Given the description of an element on the screen output the (x, y) to click on. 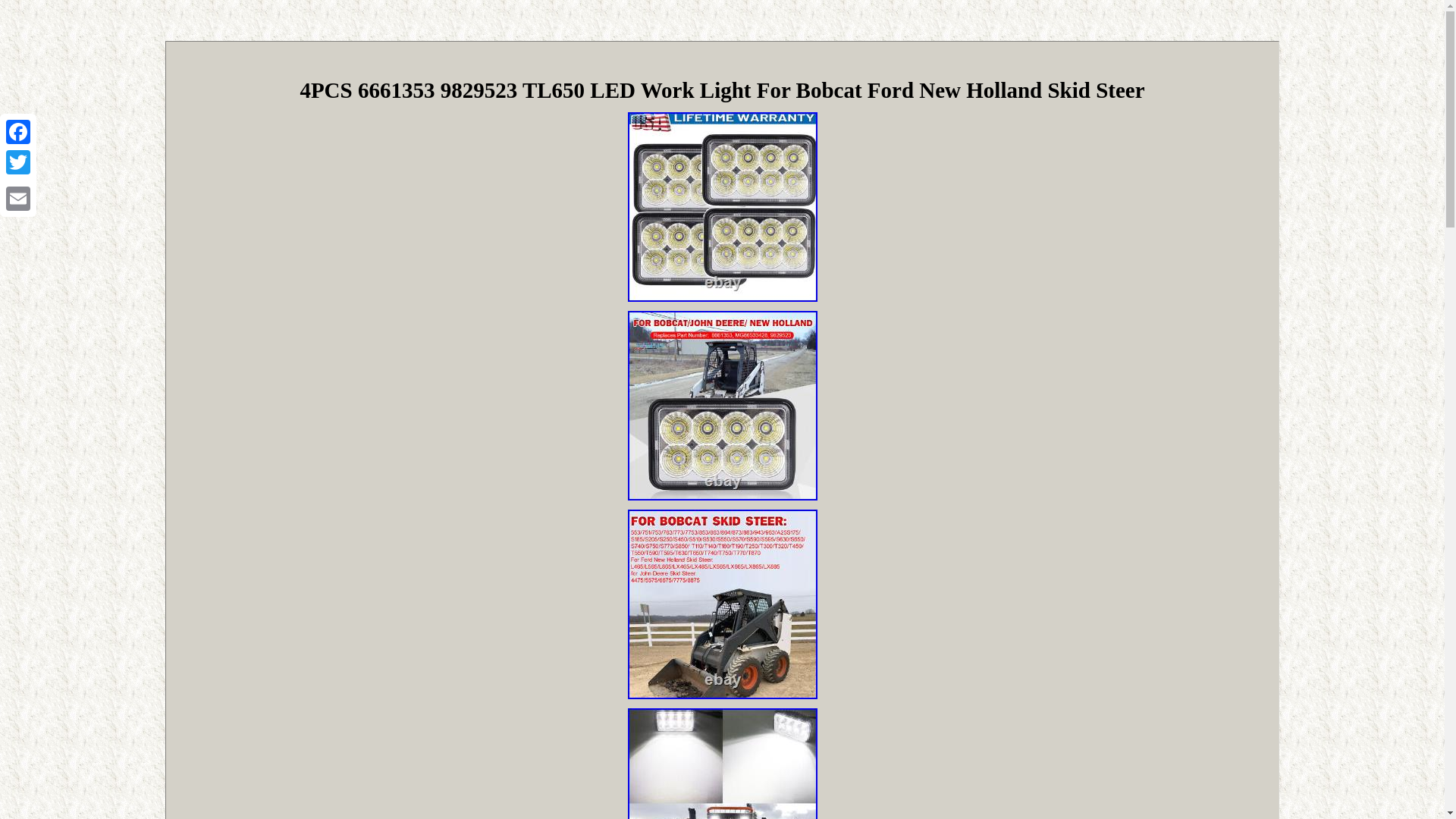
Facebook (17, 132)
Twitter (17, 162)
Email (17, 198)
